Given the description of an element on the screen output the (x, y) to click on. 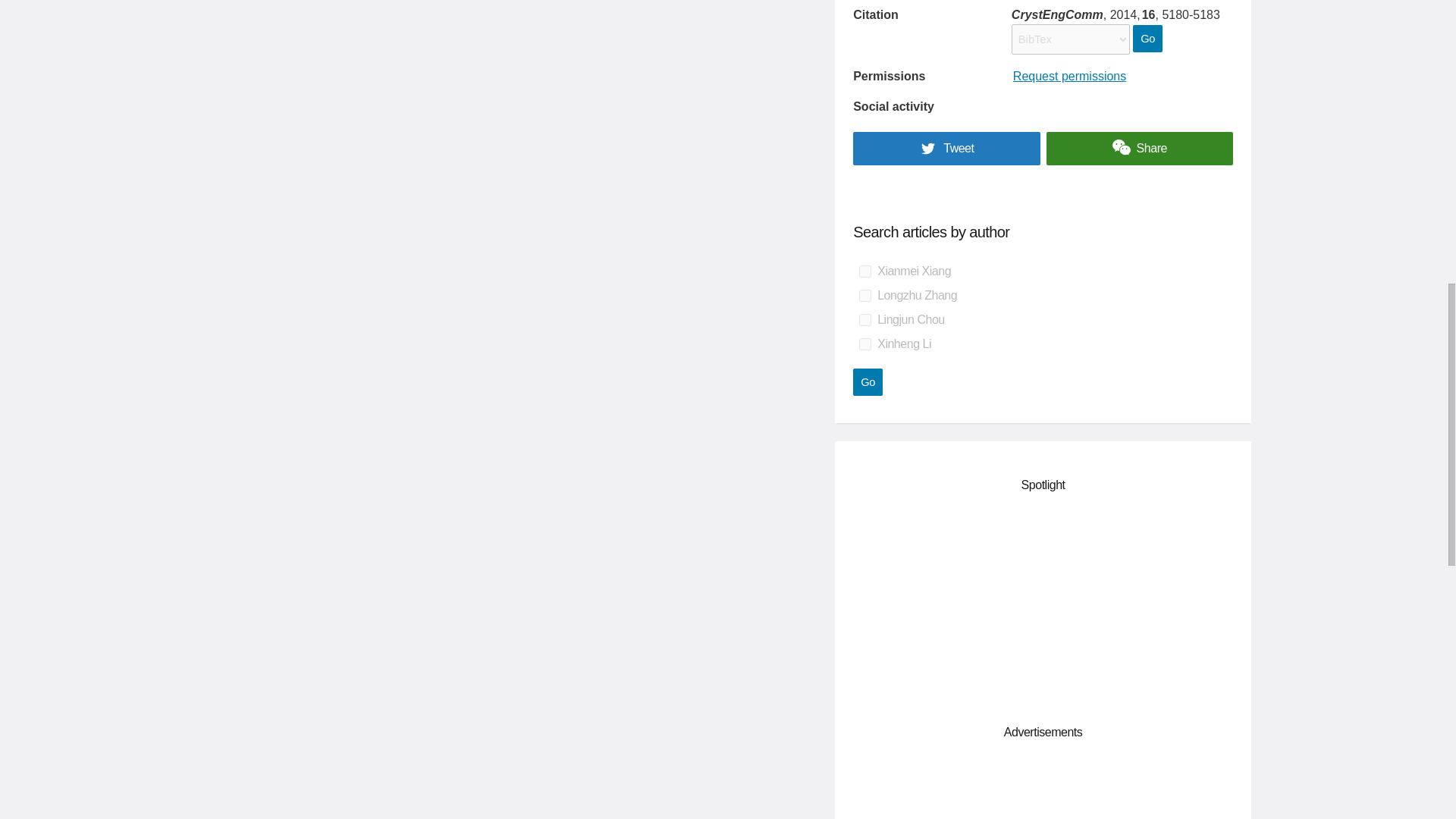
3rd party ad content (1043, 606)
on (864, 295)
on (864, 271)
3rd party ad content (1043, 788)
Go (1146, 38)
Go (867, 381)
Go (867, 381)
on (864, 344)
Request permissions (1068, 75)
on (864, 319)
Go (1146, 38)
